Given the description of an element on the screen output the (x, y) to click on. 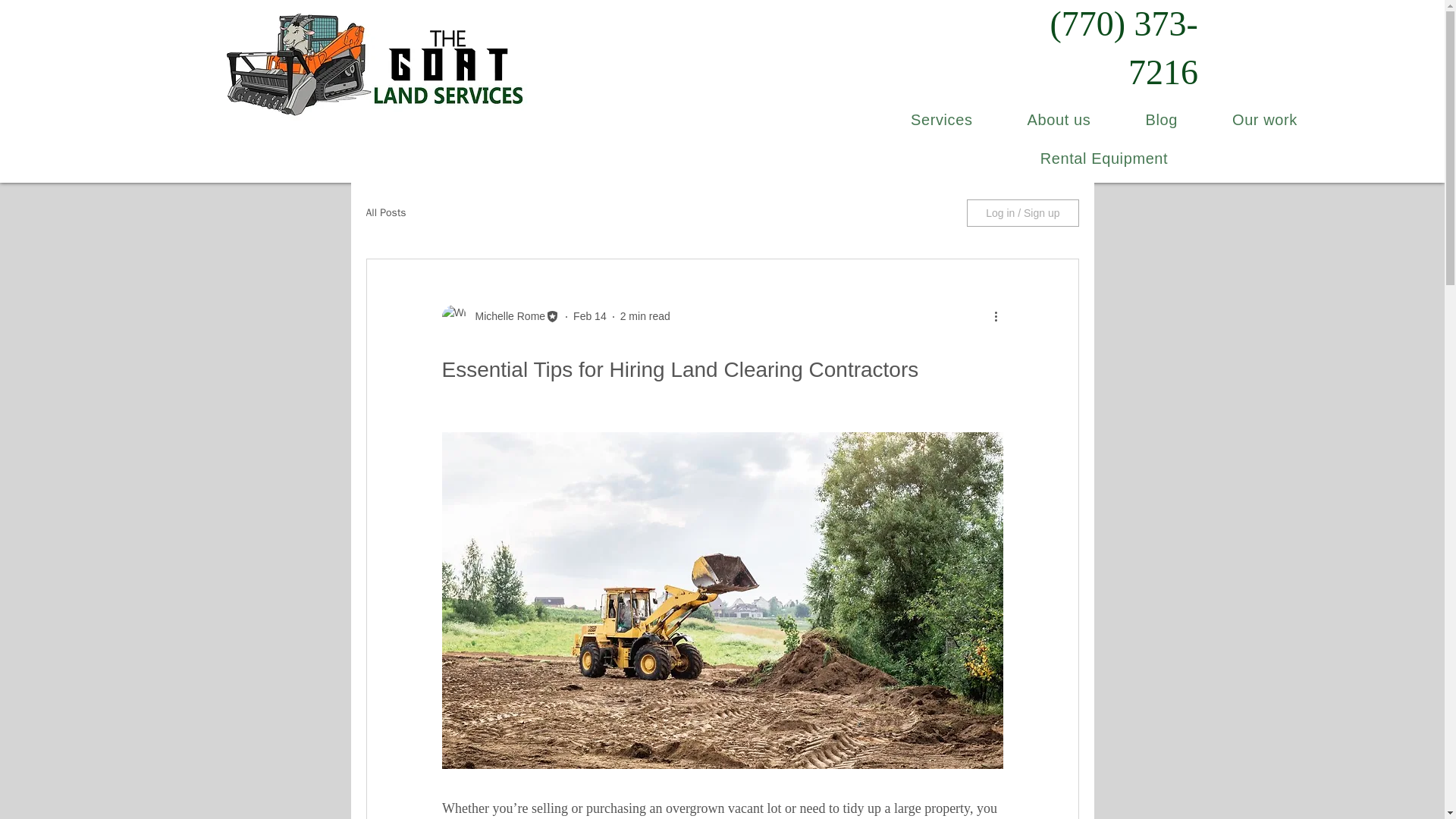
Michelle Rome (504, 316)
Blog (1161, 120)
Feb 14 (590, 316)
All Posts (385, 213)
About us (1059, 120)
2 min read (644, 316)
Services (941, 120)
Our work (1265, 120)
Rental Equipment (1104, 158)
